Given the description of an element on the screen output the (x, y) to click on. 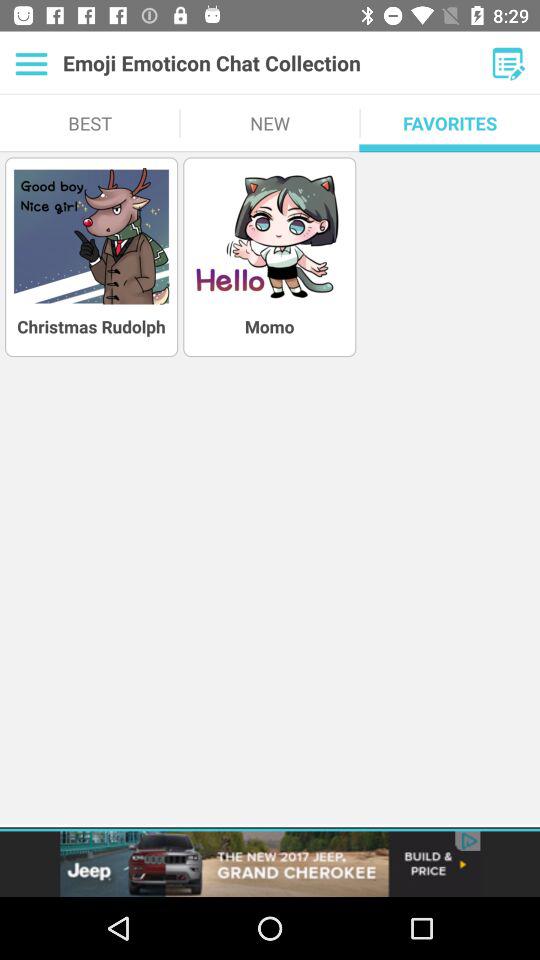
advertisement on jeep grand cherokee (270, 864)
